Given the description of an element on the screen output the (x, y) to click on. 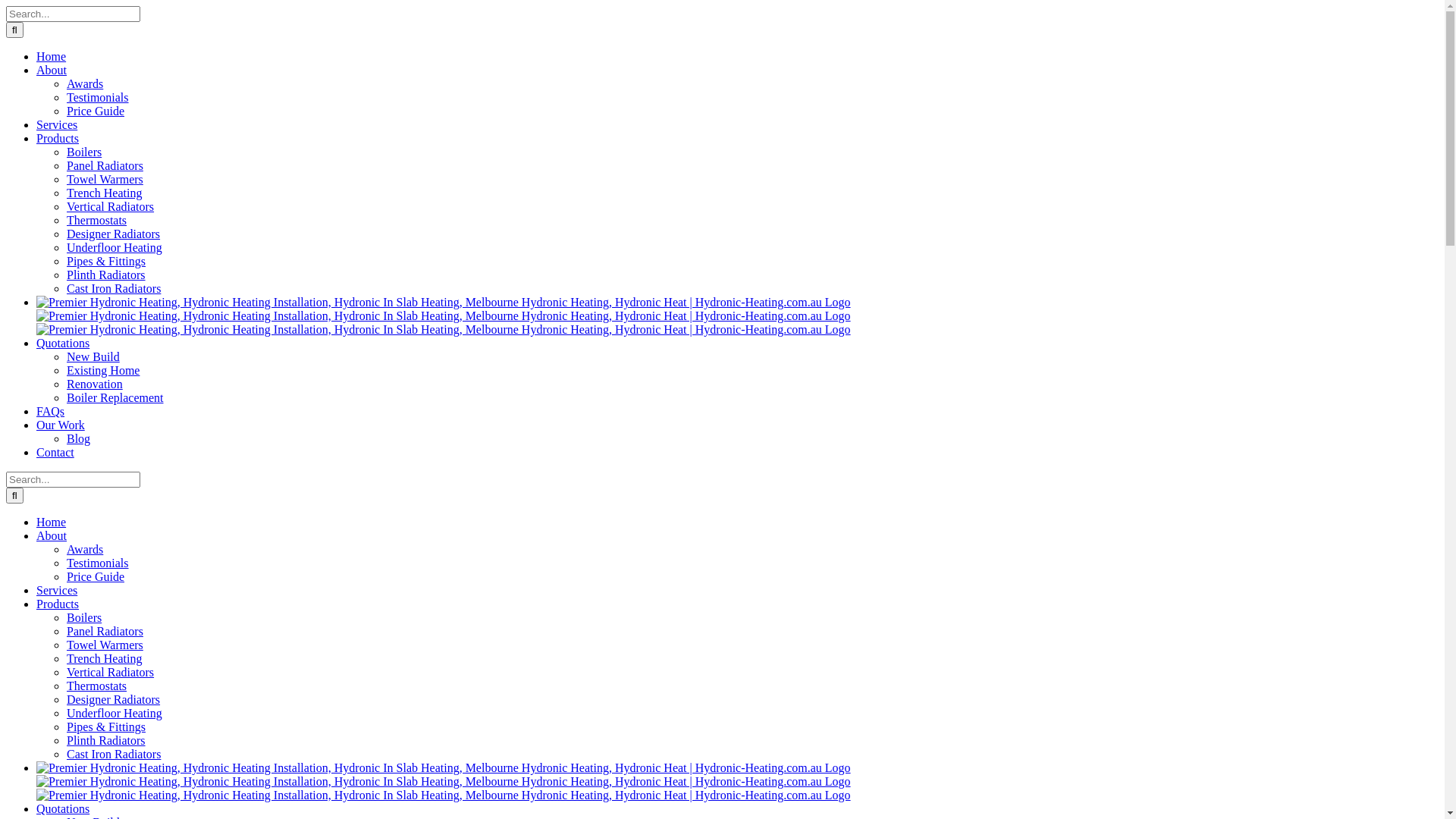
Blog Element type: text (78, 438)
Boilers Element type: text (83, 151)
Price Guide Element type: text (95, 110)
Our Work Element type: text (77, 424)
Testimonials Element type: text (97, 562)
Underfloor Heating Element type: text (114, 712)
Awards Element type: text (84, 548)
Quotations Element type: text (80, 808)
Products Element type: text (74, 137)
Plinth Radiators Element type: text (105, 274)
Renovation Element type: text (94, 383)
FAQs Element type: text (58, 410)
Plinth Radiators Element type: text (105, 740)
Panel Radiators Element type: text (104, 165)
Home Element type: text (59, 521)
New Build Element type: text (92, 356)
Testimonials Element type: text (97, 97)
Contact Element type: text (63, 451)
Products Element type: text (74, 603)
Thermostats Element type: text (96, 685)
Thermostats Element type: text (96, 219)
Trench Heating Element type: text (103, 658)
Vertical Radiators Element type: text (109, 671)
Existing Home Element type: text (102, 370)
About Element type: text (68, 69)
Panel Radiators Element type: text (104, 630)
Home Element type: text (59, 56)
Pipes & Fittings Element type: text (105, 260)
Price Guide Element type: text (95, 576)
Pipes & Fittings Element type: text (105, 726)
Skip to content Element type: text (5, 5)
About Element type: text (68, 535)
Quotations Element type: text (80, 342)
Boiler Replacement Element type: text (114, 397)
Cast Iron Radiators Element type: text (113, 288)
Trench Heating Element type: text (103, 192)
Cast Iron Radiators Element type: text (113, 753)
Towel Warmers Element type: text (104, 178)
Underfloor Heating Element type: text (114, 247)
Services Element type: text (65, 124)
Designer Radiators Element type: text (113, 699)
Designer Radiators Element type: text (113, 233)
Towel Warmers Element type: text (104, 644)
Awards Element type: text (84, 83)
Services Element type: text (65, 589)
Vertical Radiators Element type: text (109, 206)
Boilers Element type: text (83, 617)
